Given the description of an element on the screen output the (x, y) to click on. 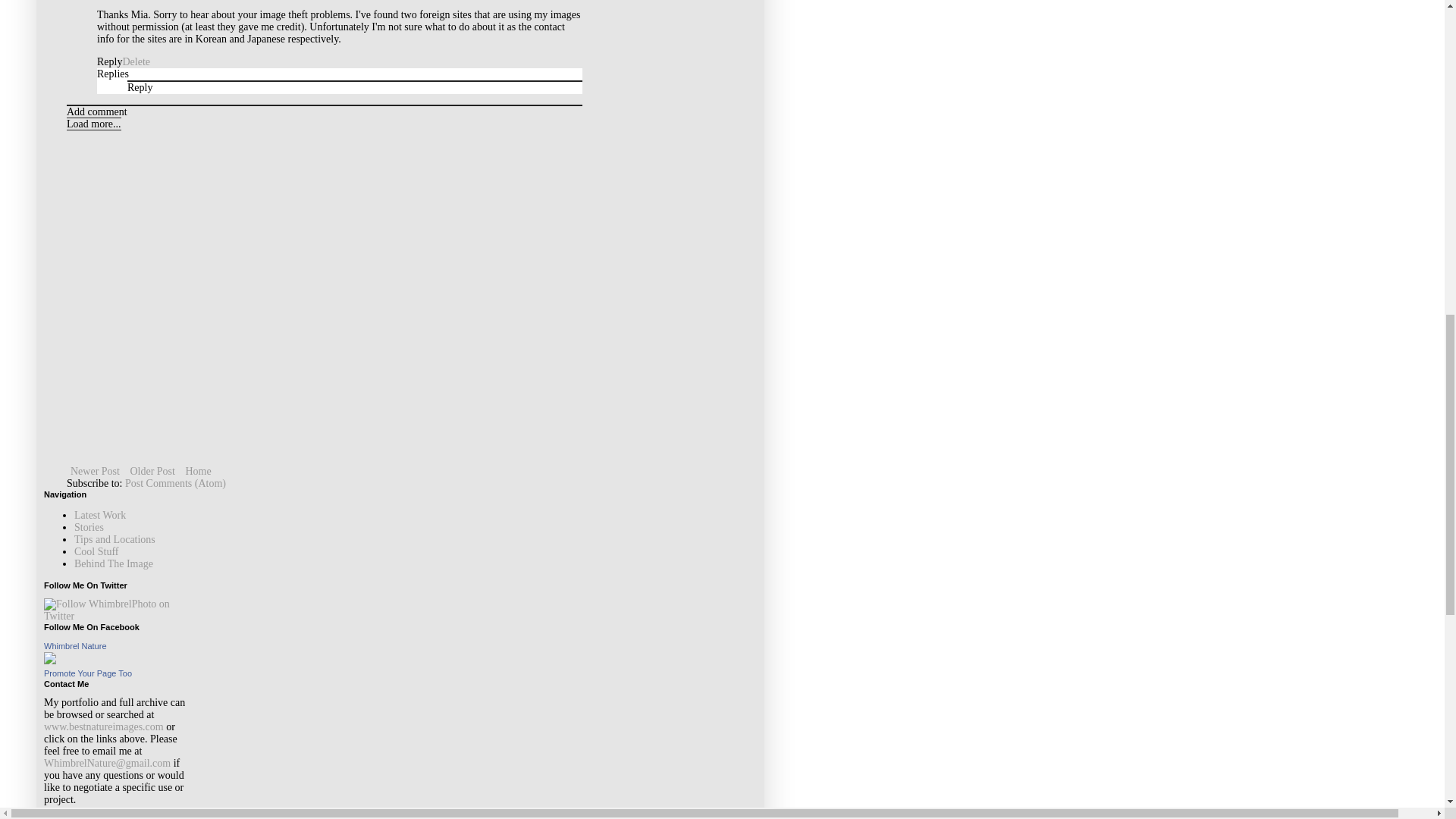
Make your own badge! (87, 673)
Load more... (93, 123)
Newer Post (94, 470)
Reply (109, 61)
Whimbrel Nature (74, 645)
Reply (140, 87)
Older Post (152, 470)
Replies (113, 73)
Delete (135, 61)
Add comment (97, 111)
Whimbrel Nature (49, 660)
